Given the description of an element on the screen output the (x, y) to click on. 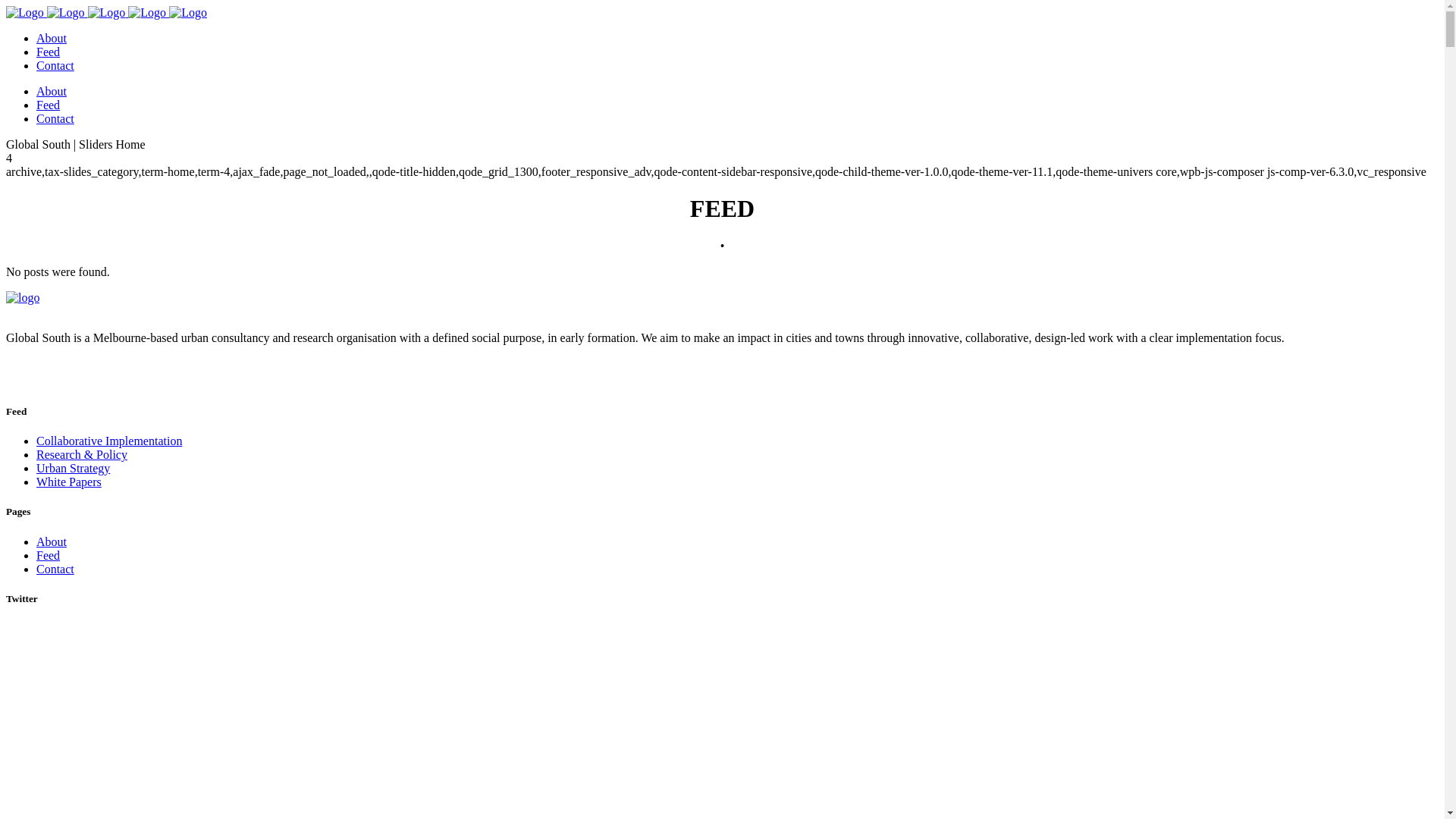
Feed Element type: text (47, 104)
About Element type: text (51, 90)
Feed Element type: text (47, 555)
Contact Element type: text (55, 65)
Collaborative Implementation Element type: text (109, 440)
White Papers Element type: text (68, 481)
About Element type: text (51, 37)
Contact Element type: text (55, 118)
About Element type: text (51, 541)
Research & Policy Element type: text (81, 454)
Contact Element type: text (55, 568)
Feed Element type: text (47, 51)
Urban Strategy Element type: text (72, 467)
